Given the description of an element on the screen output the (x, y) to click on. 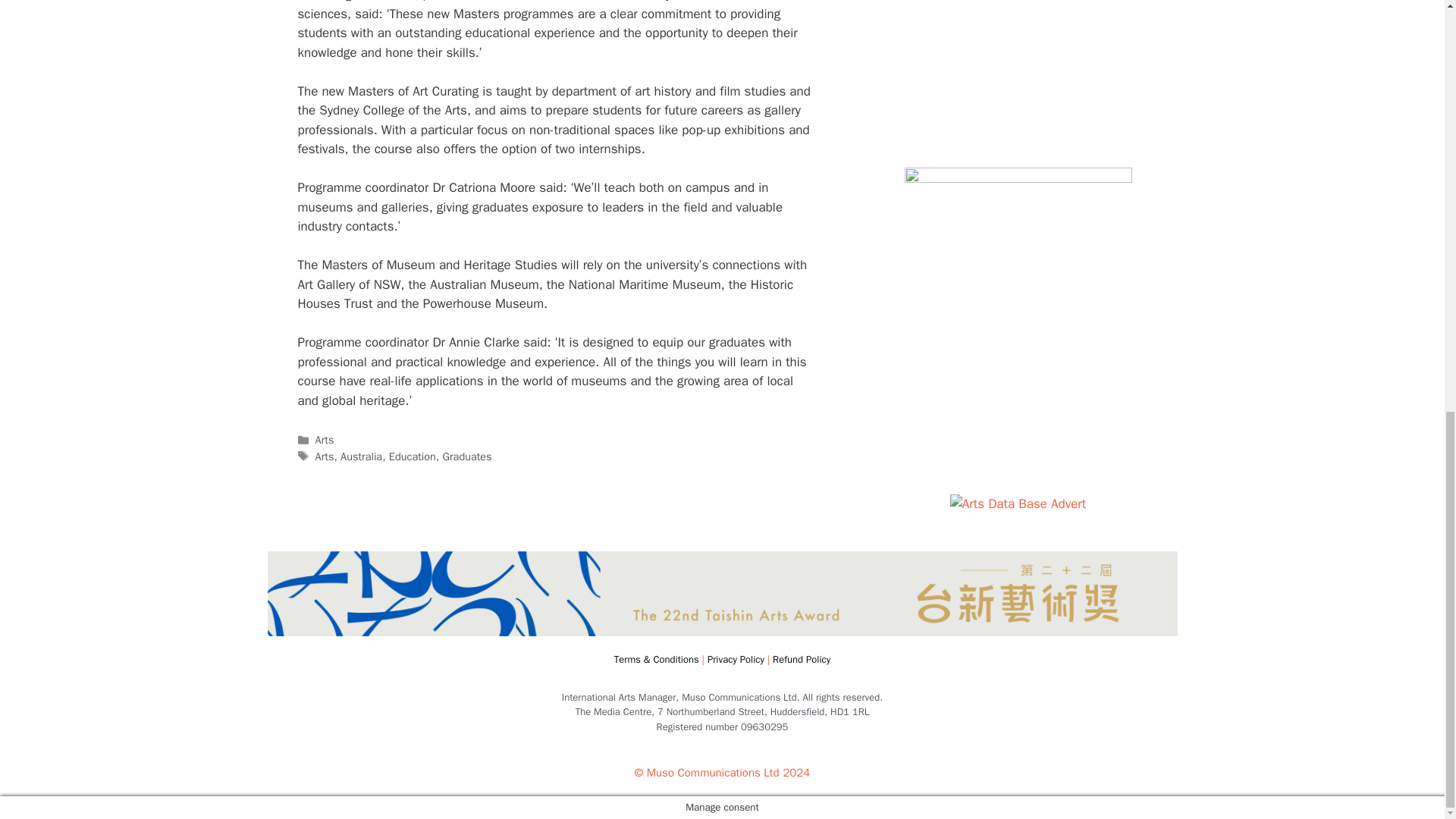
Australia (360, 456)
Privacy Policy (735, 658)
Education (411, 456)
Arts (324, 456)
Scroll back to top (1406, 711)
Arts (324, 439)
Refund Policy (801, 658)
Graduates (467, 456)
